Given the description of an element on the screen output the (x, y) to click on. 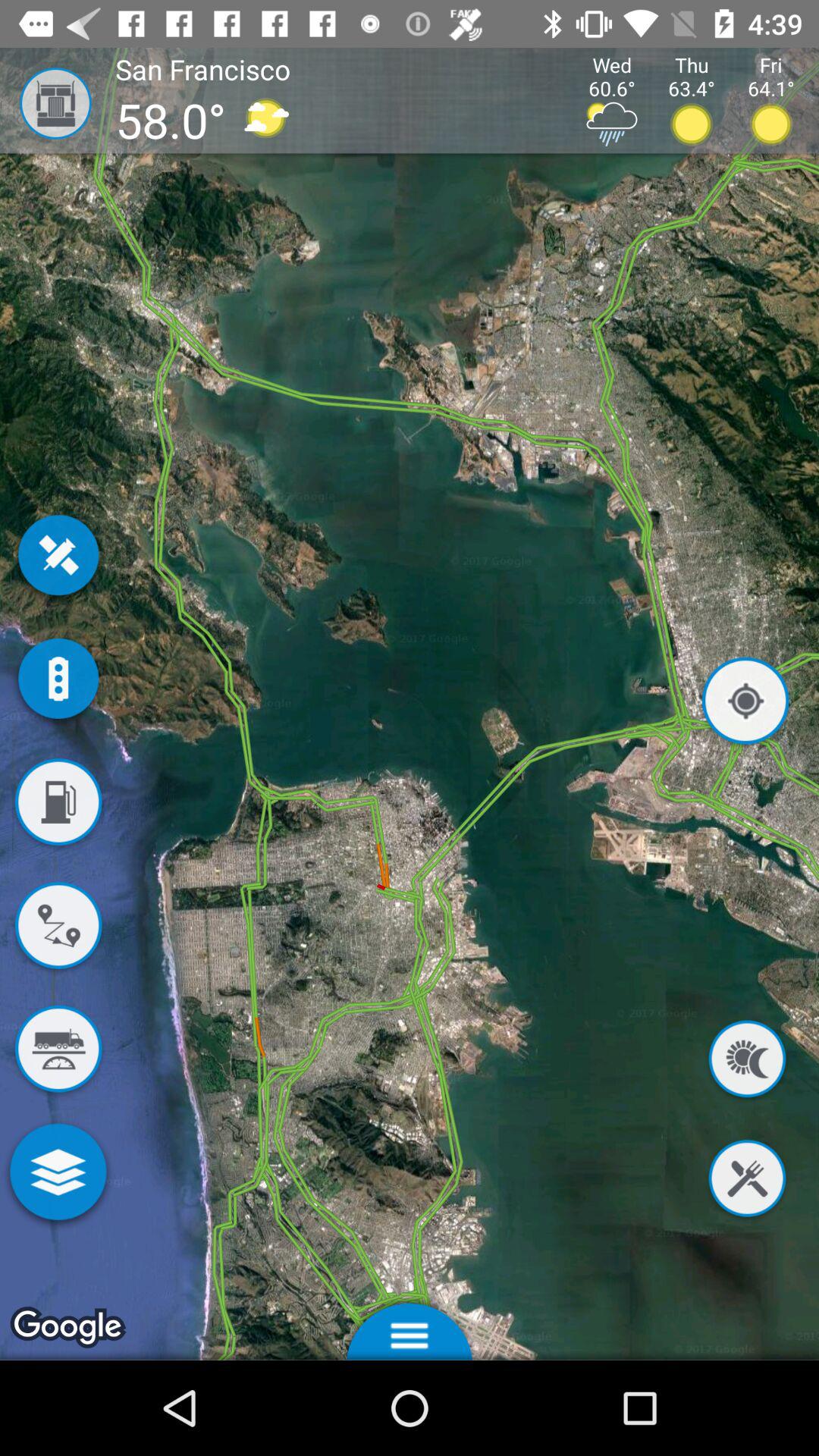
tap item next to the san francisco (45, 103)
